Given the description of an element on the screen output the (x, y) to click on. 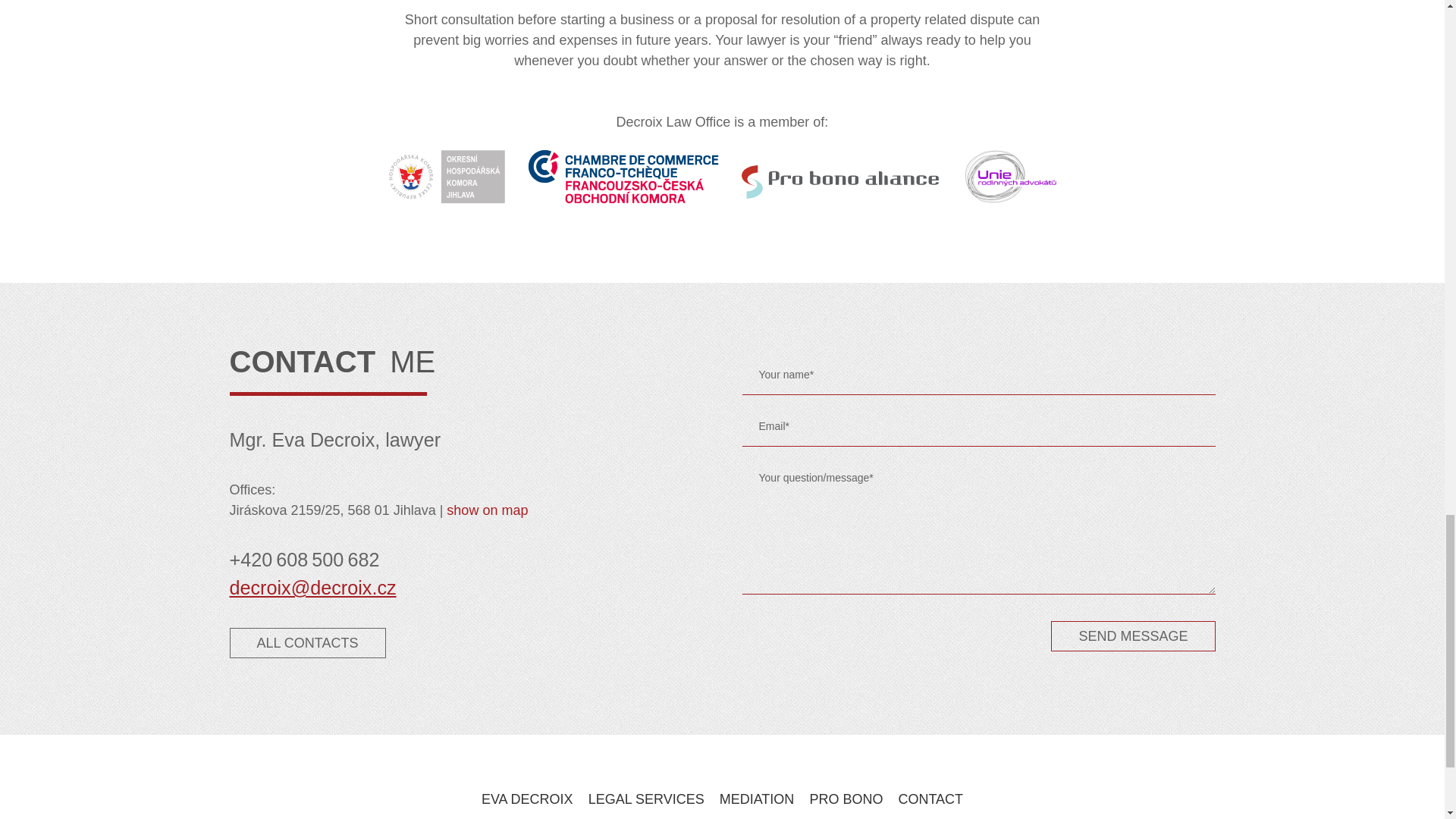
Send message (1132, 635)
PRO BONO (845, 799)
CONTACT (930, 799)
LEGAL SERVICES (645, 799)
Send message (1132, 635)
ALL CONTACTS (306, 643)
show on map (486, 509)
MEDIATION (756, 799)
Pro bono aliance (840, 176)
EVA DECROIX (527, 799)
